Given the description of an element on the screen output the (x, y) to click on. 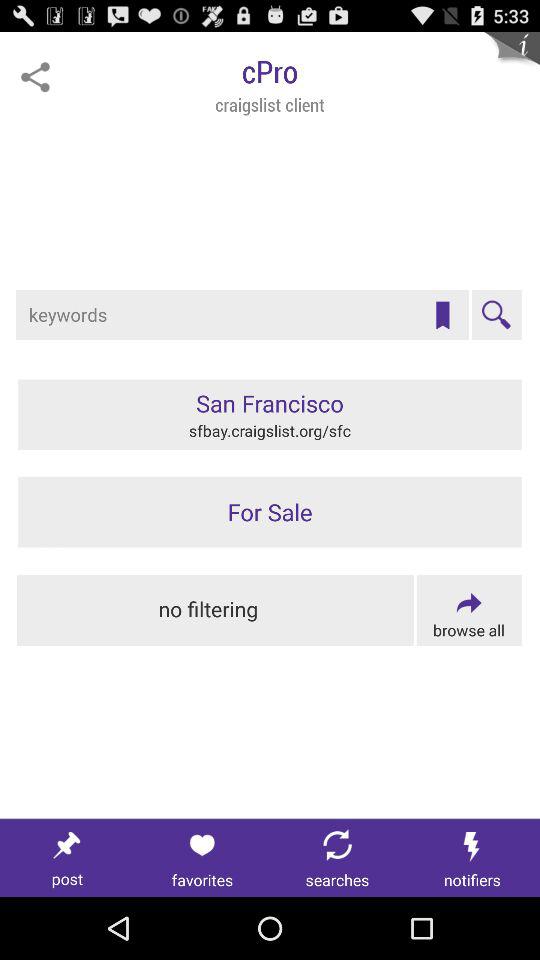
open information page (511, 59)
